Given the description of an element on the screen output the (x, y) to click on. 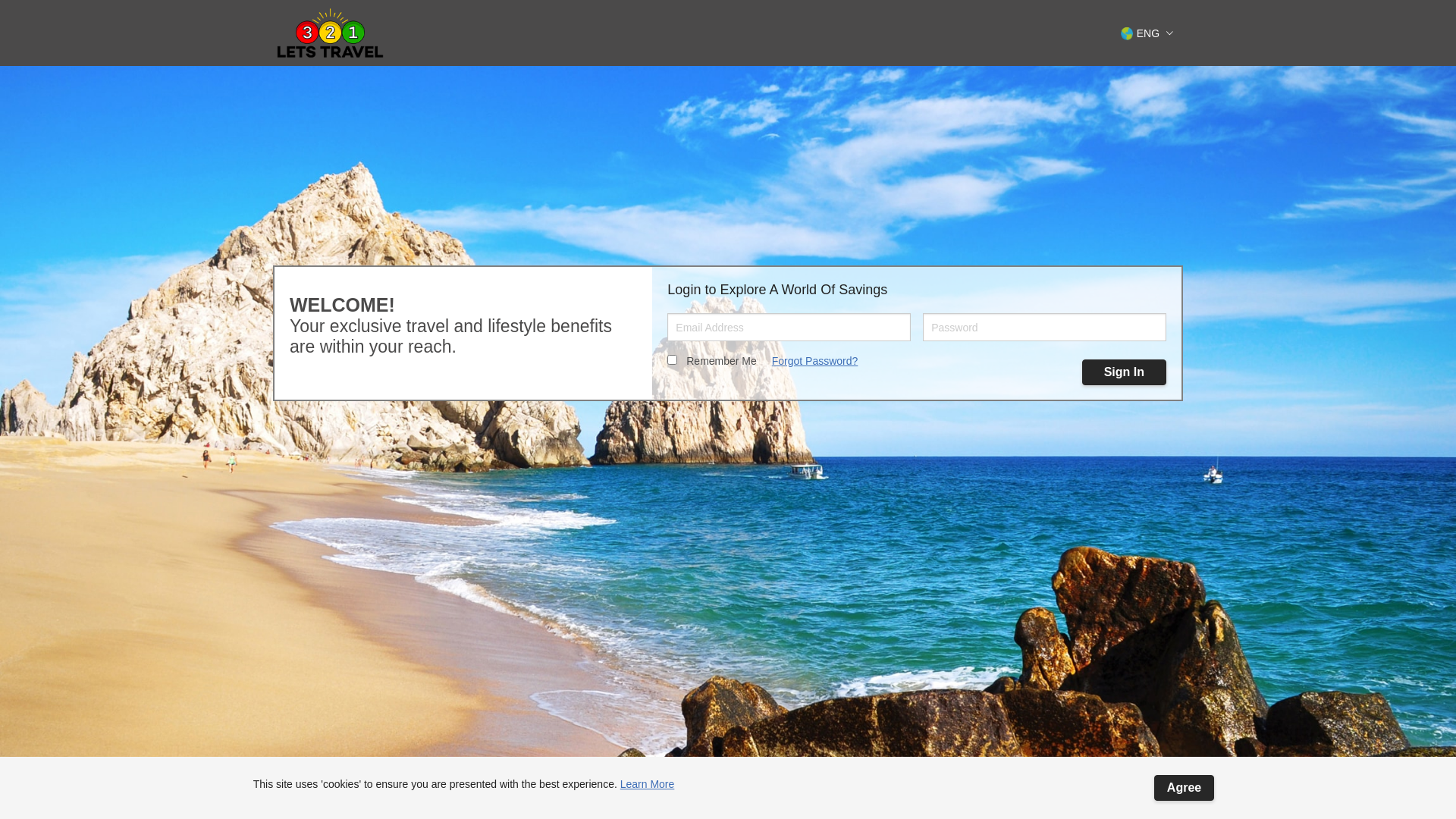
Sign In Element type: text (1124, 372)
Learn More Element type: text (647, 784)
Agree Element type: text (1184, 787)
Forgot Password? Element type: text (814, 360)
